Given the description of an element on the screen output the (x, y) to click on. 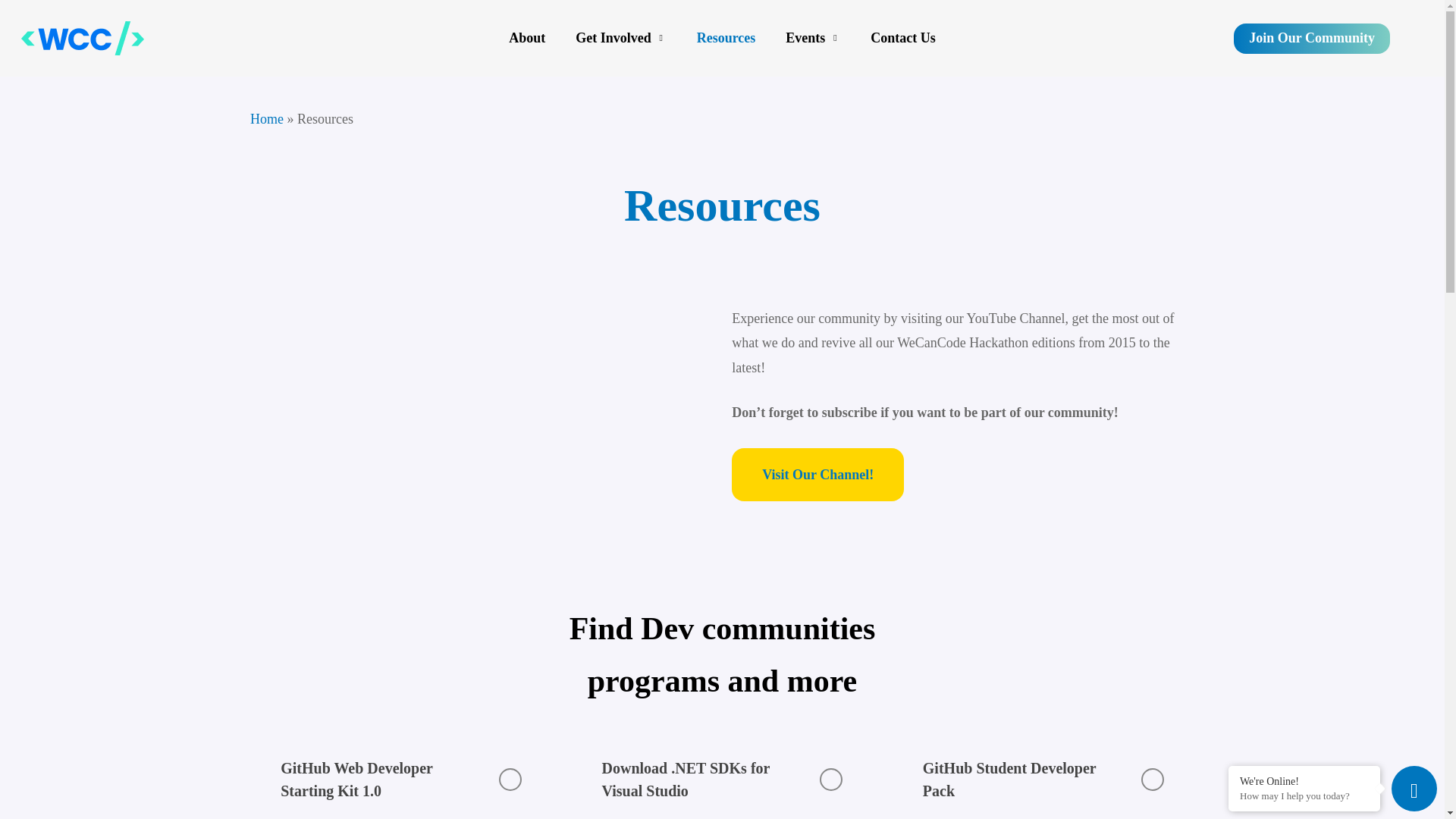
Download .NET SDKs for Visual Studio (722, 776)
Home (266, 118)
Resources (726, 37)
WE CAN CODE 2022 - Hackathon Ganadores Primer Lugar (480, 407)
Join Our Community (1311, 37)
About (526, 37)
GitHub Student Developer Pack (1043, 776)
GitHub Web Developer Starting Kit 1.0 (401, 776)
Get Involved (620, 37)
Visit Our Channel! (818, 474)
How may I help you today? (1304, 796)
Contact Us (903, 37)
We're Online! (1304, 780)
Events (813, 37)
